Given the description of an element on the screen output the (x, y) to click on. 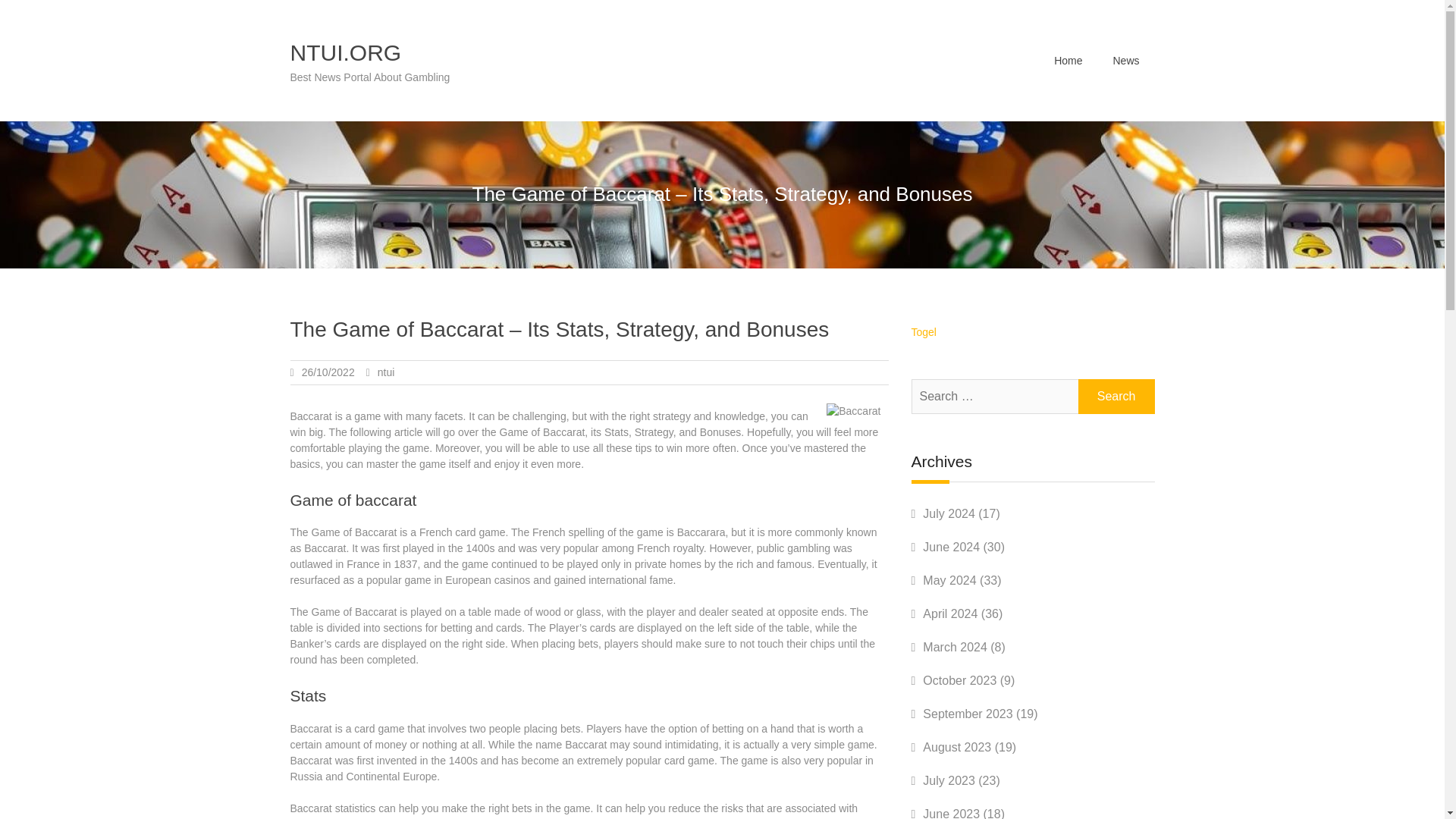
ntui (385, 372)
June 2024 (951, 546)
March 2024 (955, 646)
June 2023 (951, 813)
August 2023 (957, 747)
Search (1116, 396)
NTUI.ORG (345, 52)
Search (1116, 396)
July 2024 (949, 513)
Togel (923, 331)
Home (1068, 59)
July 2023 (949, 780)
October 2023 (959, 680)
Search (1116, 396)
May 2024 (949, 580)
